Given the description of an element on the screen output the (x, y) to click on. 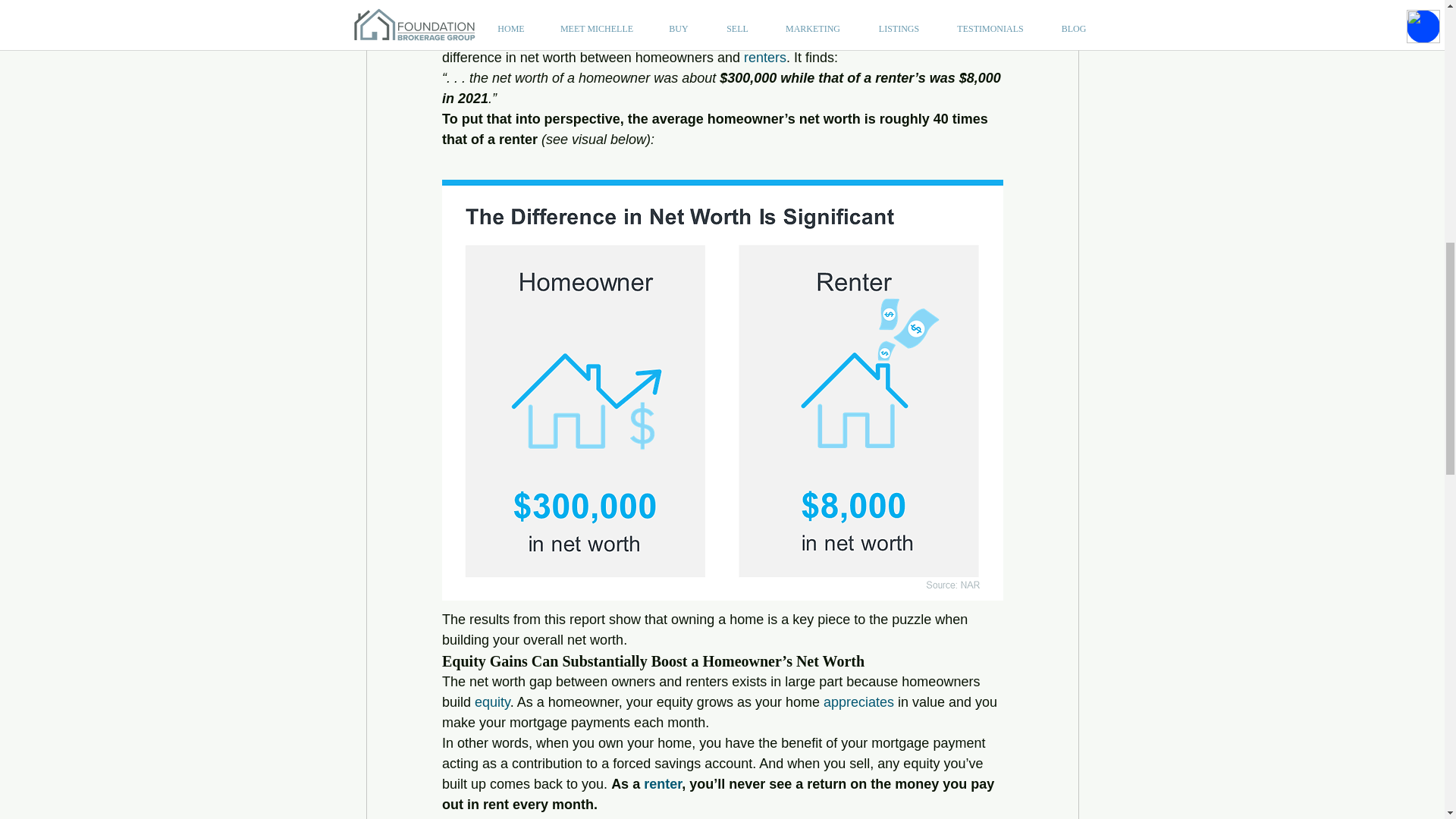
appreciates (857, 702)
equity (492, 702)
renters (764, 57)
simply (617, 818)
report (546, 37)
renter (662, 783)
